Given the description of an element on the screen output the (x, y) to click on. 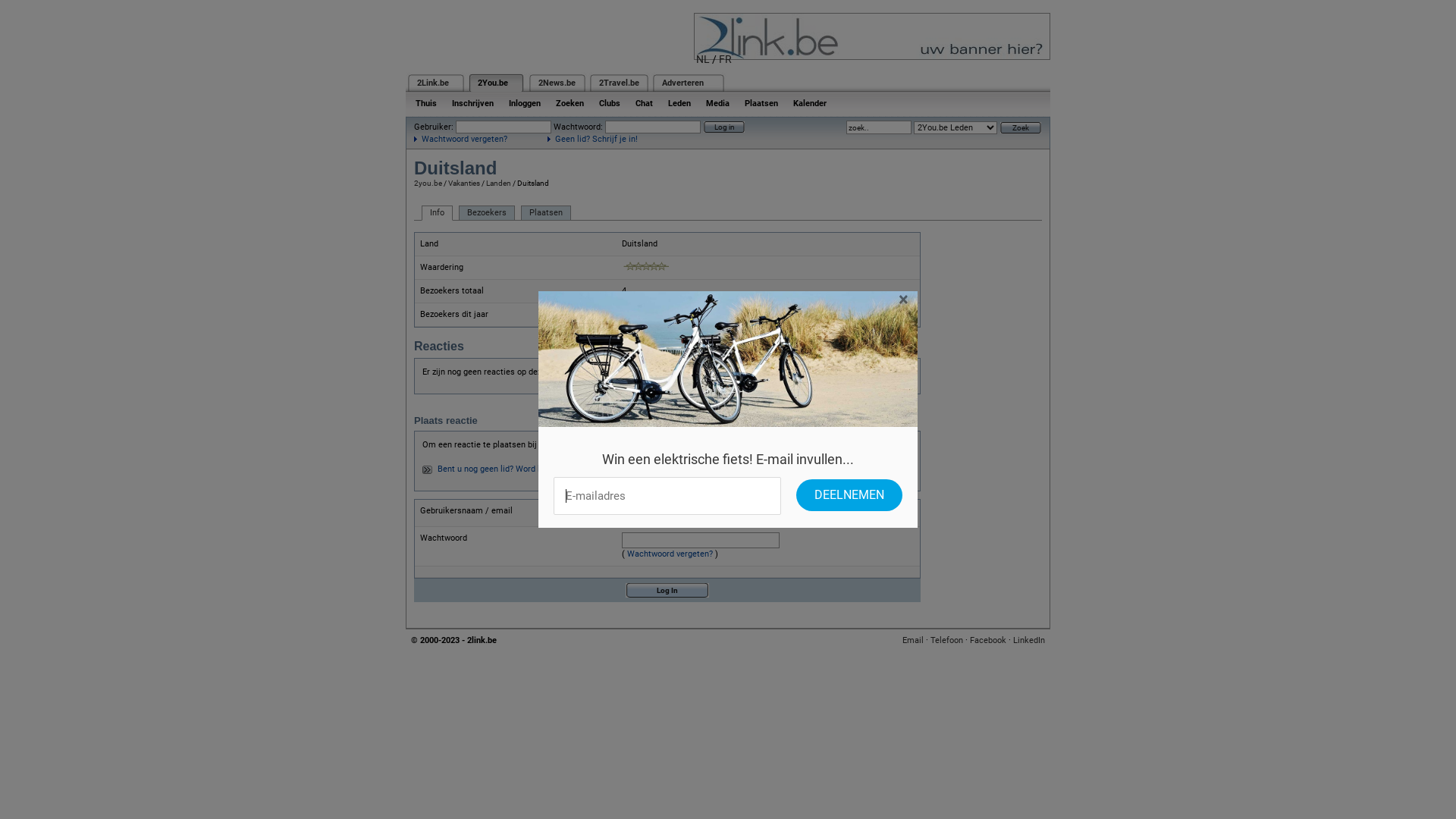
Bent u nog geen lid? Word lid! Element type: text (493, 468)
FR Element type: text (724, 59)
2you.be Element type: text (428, 182)
2Link.be Element type: text (432, 82)
Landen Element type: text (498, 182)
NL Element type: text (702, 59)
Adverteren Element type: text (682, 82)
Plaatsen Element type: text (545, 212)
Clubs Element type: text (609, 103)
Vakanties Element type: text (464, 182)
Wachtwoord vergeten? Element type: text (460, 139)
Bezoekers Element type: text (486, 212)
Kalender Element type: text (809, 103)
Inschrijven Element type: text (472, 103)
2Travel.be Element type: text (619, 82)
2News.be Element type: text (556, 82)
Email Element type: text (912, 640)
Info Element type: text (436, 212)
Geen lid? Schrijf je in! Element type: text (592, 139)
Log In Element type: text (667, 590)
Zoeken Element type: text (569, 103)
Telefoon Element type: text (946, 640)
Leden Element type: text (679, 103)
Media Element type: text (717, 103)
Wachtwoord vergeten? Element type: text (669, 553)
Facebook Element type: text (987, 640)
Log in Element type: text (723, 126)
Zoek Element type: text (1020, 126)
Thuis Element type: text (425, 103)
LinkedIn Element type: text (1028, 640)
Inloggen Element type: text (524, 103)
Plaatsen Element type: text (761, 103)
Chat Element type: text (643, 103)
2You.be Element type: text (492, 82)
